Given the description of an element on the screen output the (x, y) to click on. 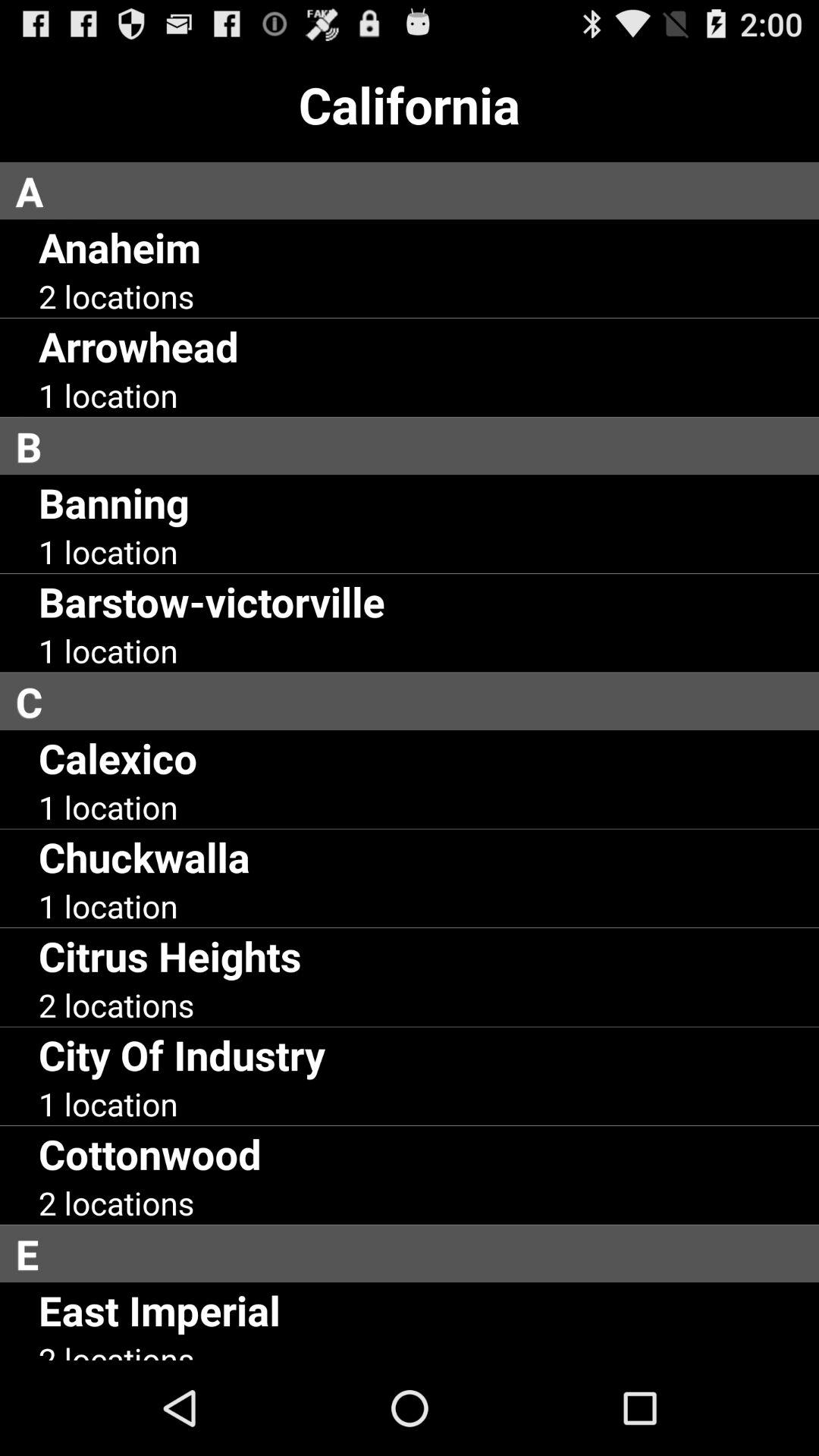
flip to chuckwalla item (144, 856)
